Given the description of an element on the screen output the (x, y) to click on. 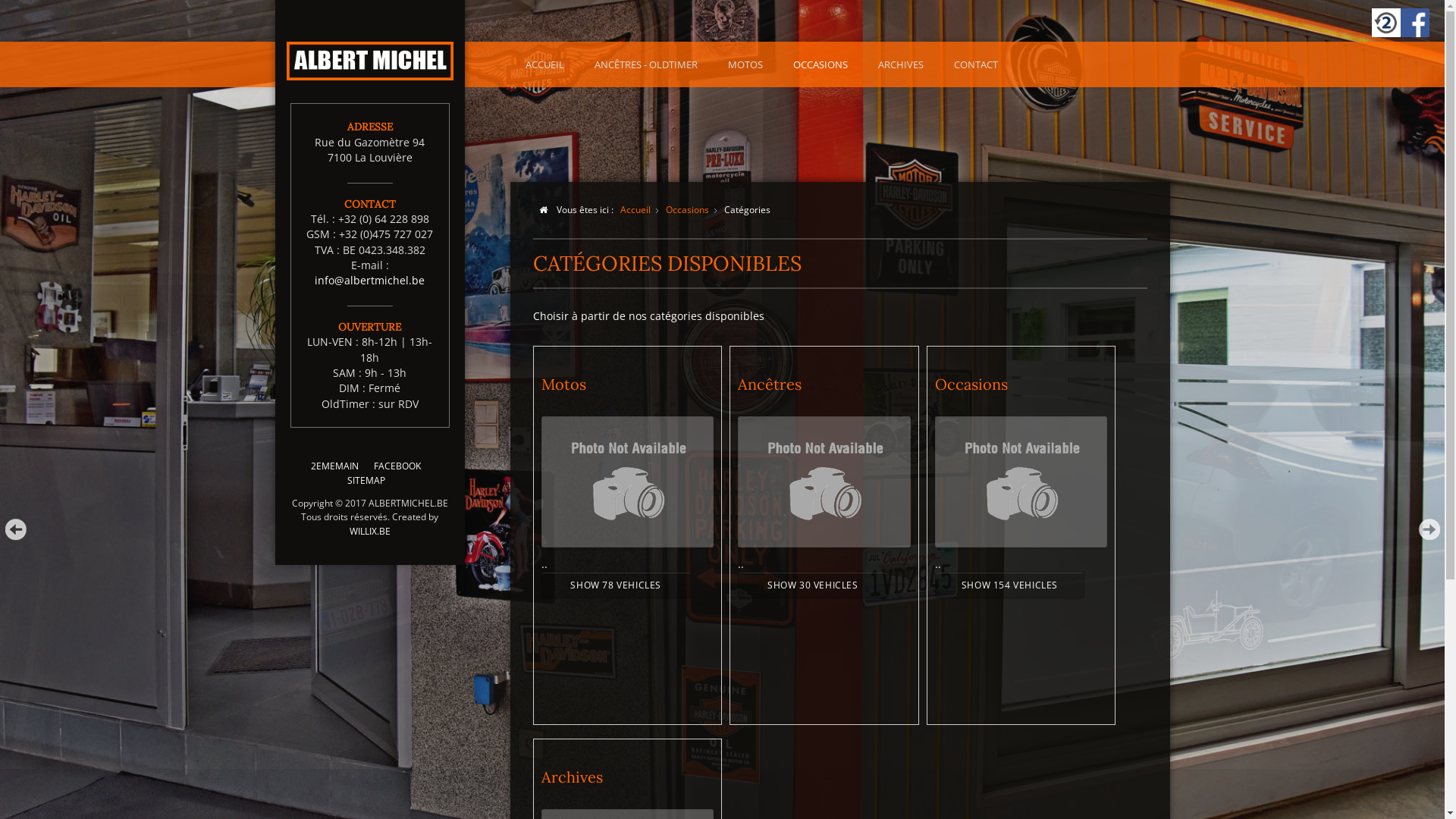
Accueil Element type: text (635, 209)
template-joomspirit.com Element type: text (1439, 761)
> Element type: text (1429, 528)
ACCUEIL Element type: text (543, 64)
OCCASIONS Element type: text (820, 64)
SHOW 30 VEHICLES Element type: text (812, 584)
< Element type: text (14, 528)
Occasions Element type: text (687, 209)
SHOW 78 VEHICLES Element type: text (616, 584)
2eme main Element type: hover (1385, 22)
ARCHIVES Element type: text (900, 64)
CONTACT Element type: text (975, 64)
FACEBOOK Element type: text (397, 466)
2EMEMAIN Element type: text (334, 466)
MOTOS Element type: text (745, 64)
SITEMAP Element type: text (365, 480)
WILLIX.BE Element type: text (368, 530)
SHOW 154 VEHICLES Element type: text (1010, 584)
FaceBook Element type: hover (1414, 22)
info@albertmichel.be Element type: text (369, 280)
